Given the description of an element on the screen output the (x, y) to click on. 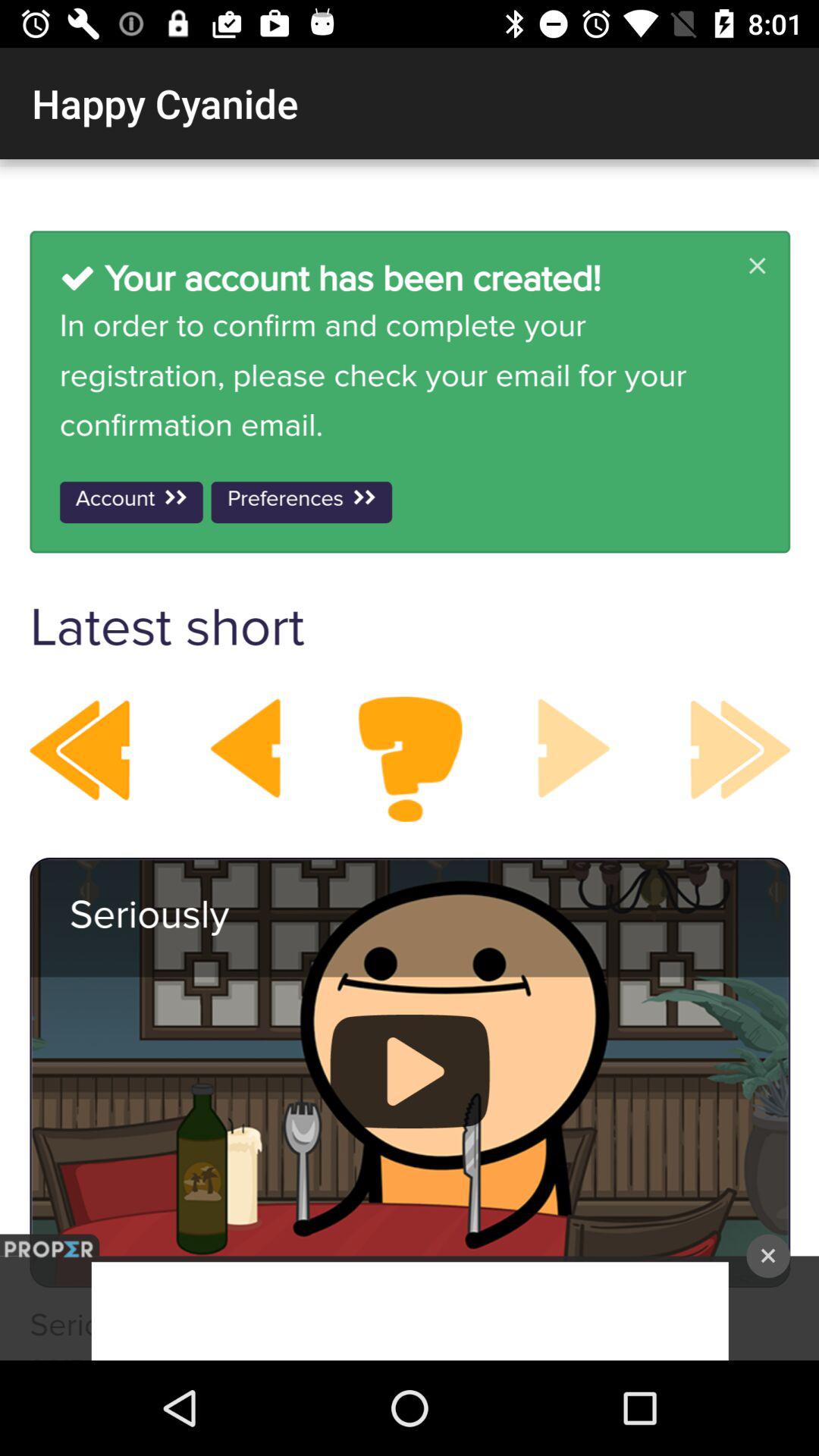
description (409, 759)
